Given the description of an element on the screen output the (x, y) to click on. 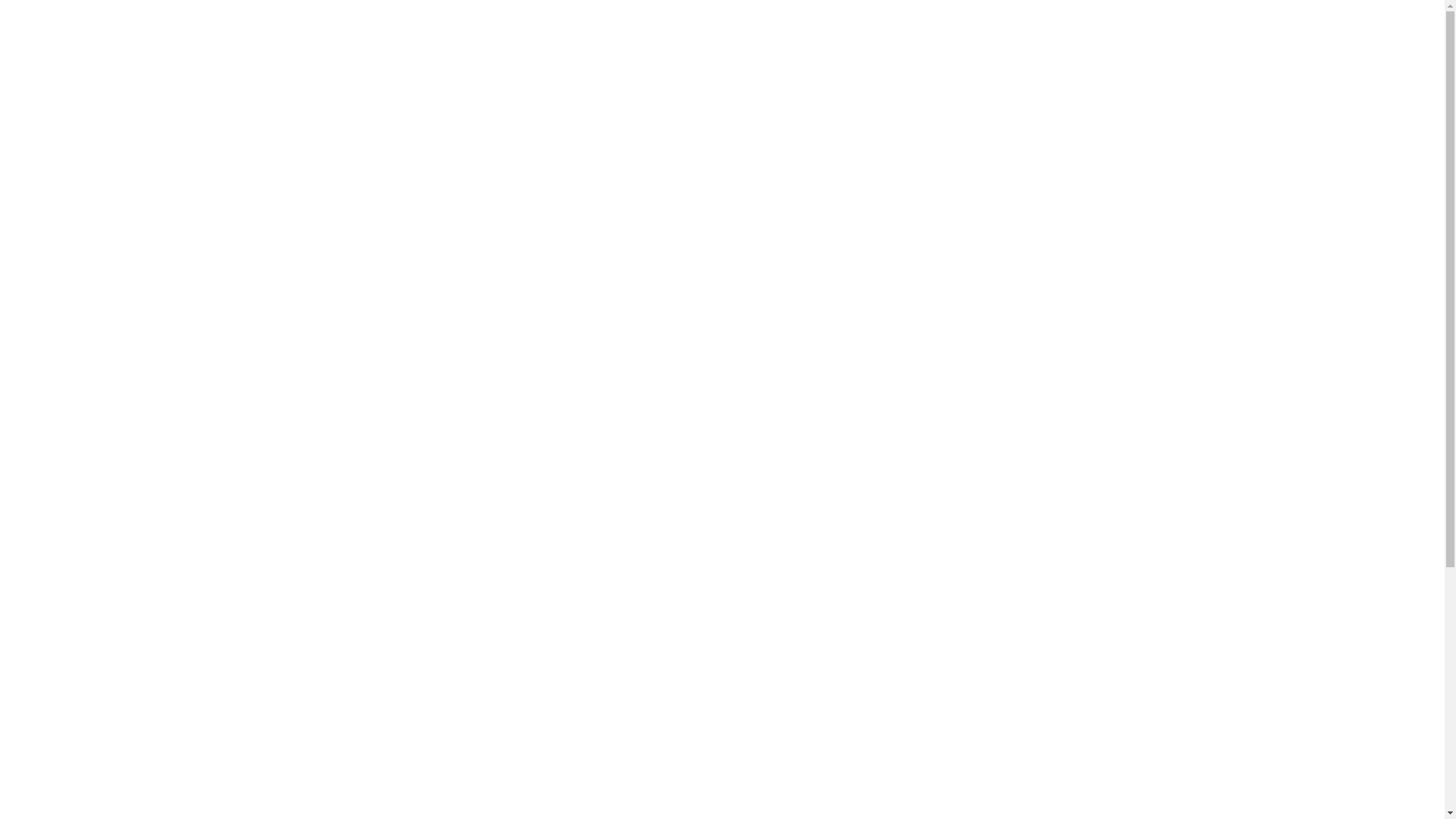
registrar@pu.edu.bd Element type: text (168, 702)
ONLINE ADMISSION Element type: text (67, 576)
PRESIDENCY UNIVERSITY Element type: text (290, 79)
ABOUT Element type: text (34, 311)
Dua Mahfil and Cake Cutting Ceremony ..Clikc for Details Element type: text (181, 425)
DOCUMENT VERIFICATION Element type: text (85, 682)
ALUMNI Element type: text (36, 470)
Toggle navigation Element type: text (55, 200)
ACADEMICS Element type: text (47, 364)
LIBRARY Element type: text (39, 788)
CONTACT Element type: text (41, 523)
COMMONWEALTH SCHOLARSHIPS 2023 Element type: text (1243, 446)
controller@pu.edu.bd Element type: text (168, 800)
GO TO NOTICE BOARD Element type: text (1231, 273)
ADMISSION Element type: text (46, 417)
VIEW ALL EVENTS Element type: text (1231, 642)
EID REUNION REGISTRATION IS HEREBY CLOSED Element type: text (1267, 511)
TUITION AND OTHER FEES Element type: text (85, 735)
HOME Element type: text (32, 258)
 Read More Element type: text (650, 535)
STUDENT PORTAL Element type: text (63, 629)
NATIONAL MOURNING DAY Element type: text (1212, 489)
INVEST IN YOUR FUTURE Element type: text (1207, 468)
BOSHONTO BORON UTHSHAB Element type: text (1220, 425)
